Given the description of an element on the screen output the (x, y) to click on. 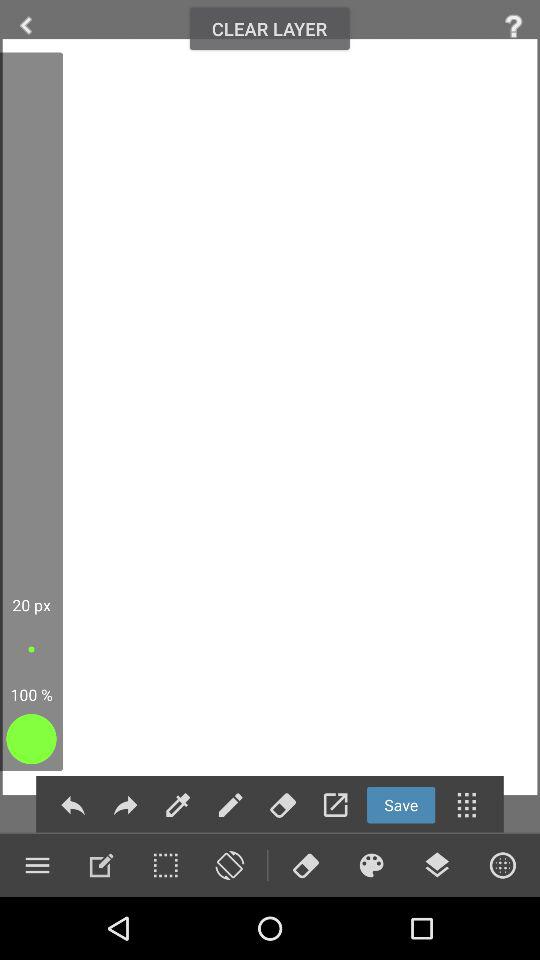
zooming (101, 865)
